Given the description of an element on the screen output the (x, y) to click on. 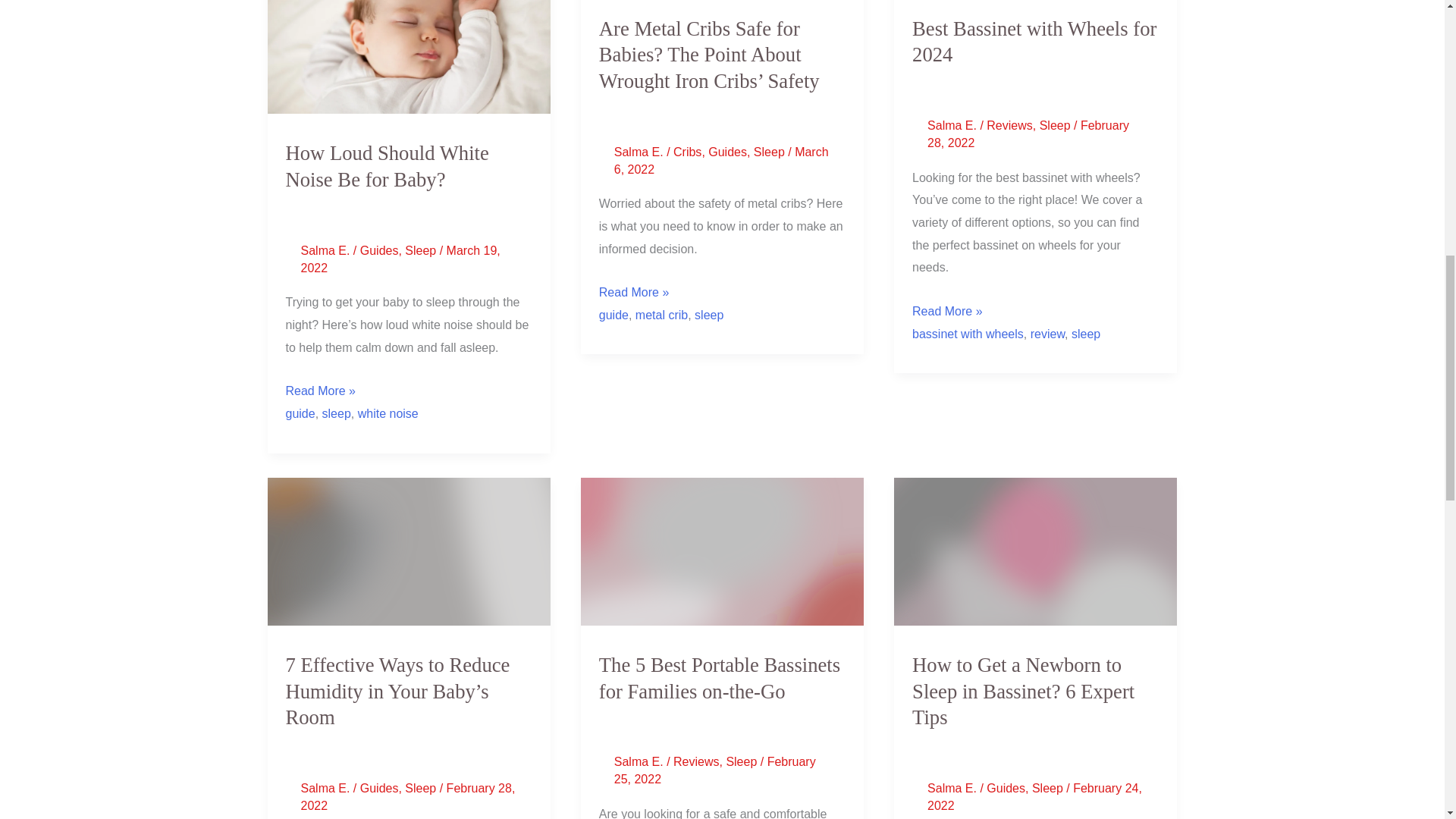
View all posts by Salma E. (325, 250)
View all posts by Salma E. (325, 788)
View all posts by Salma E. (640, 151)
View all posts by Salma E. (953, 124)
View all posts by Salma E. (640, 761)
View all posts by Salma E. (953, 788)
